Given the description of an element on the screen output the (x, y) to click on. 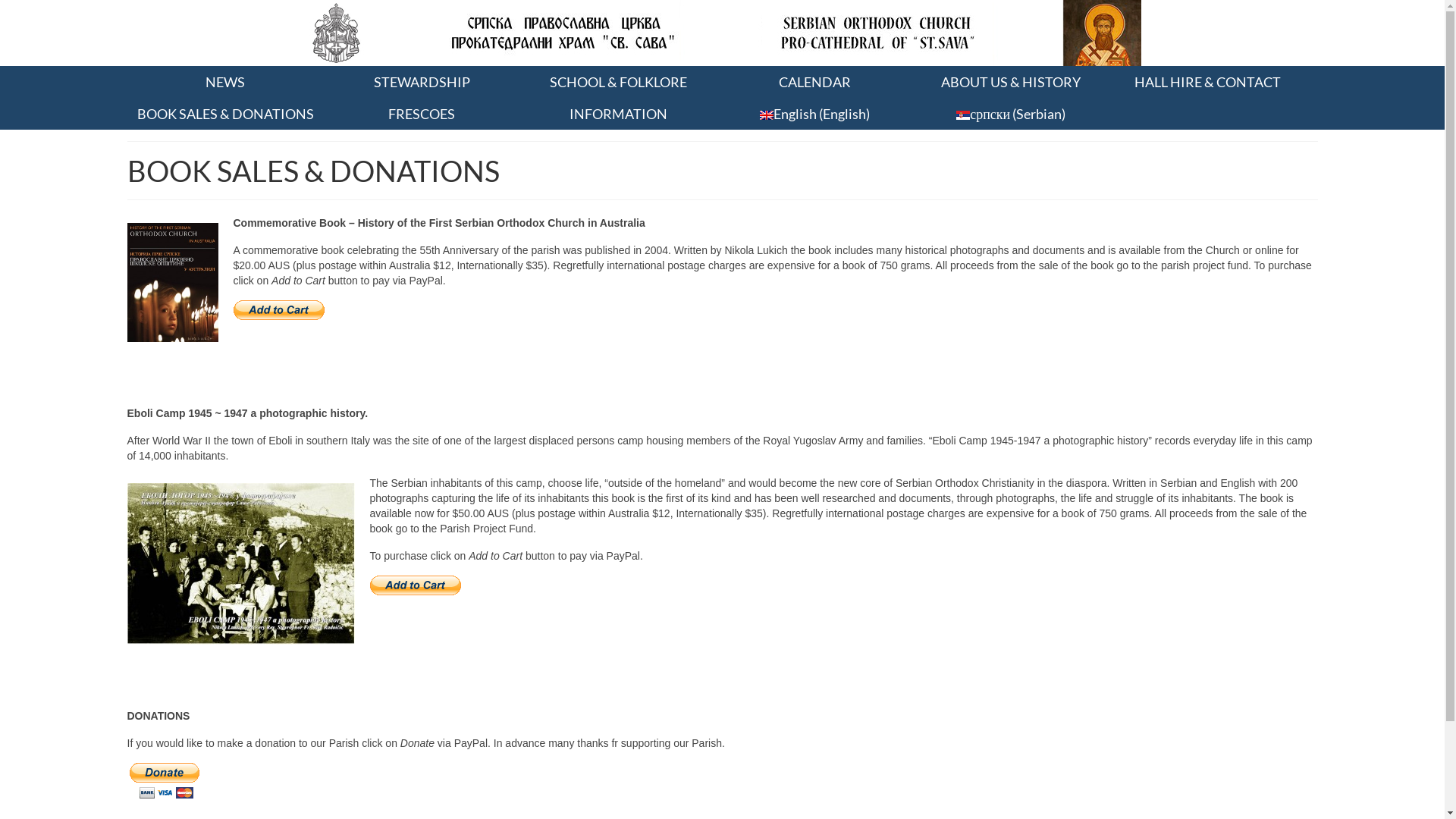
STEWARDSHIP Element type: text (421, 81)
BOOK SALES & DONATIONS Element type: text (225, 113)
ABOUT US & HISTORY Element type: text (1011, 81)
CALENDAR Element type: text (814, 81)
SCHOOL & FOLKLORE Element type: text (618, 81)
INFORMATION Element type: text (618, 113)
FRESCOES Element type: text (421, 113)
English (English) Element type: text (814, 113)
NEWS Element type: text (225, 81)
HALL HIRE & CONTACT Element type: text (1207, 81)
